Given the description of an element on the screen output the (x, y) to click on. 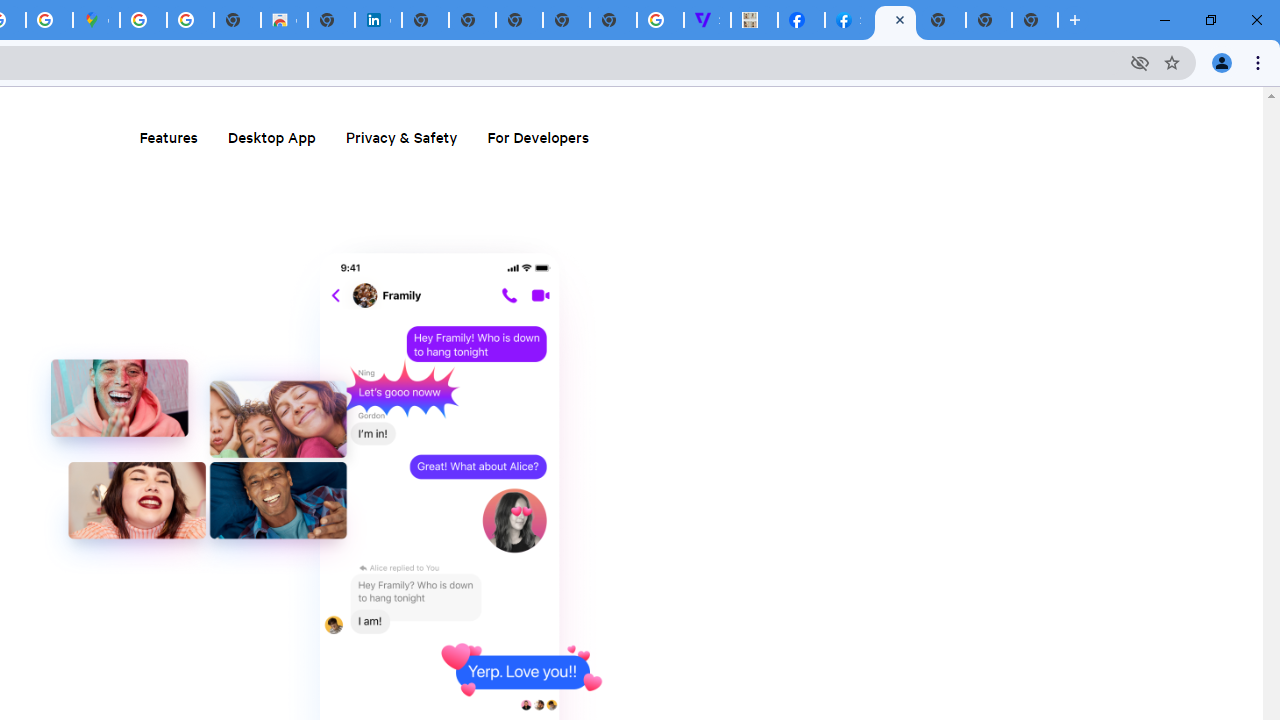
Miley Cyrus | Facebook (801, 20)
Streaming - The Verge (706, 20)
Third-party cookies blocked (1139, 62)
Sign Up for Facebook (848, 20)
Google Maps (96, 20)
Desktop App (271, 136)
Privacy & Safety (401, 136)
